Given the description of an element on the screen output the (x, y) to click on. 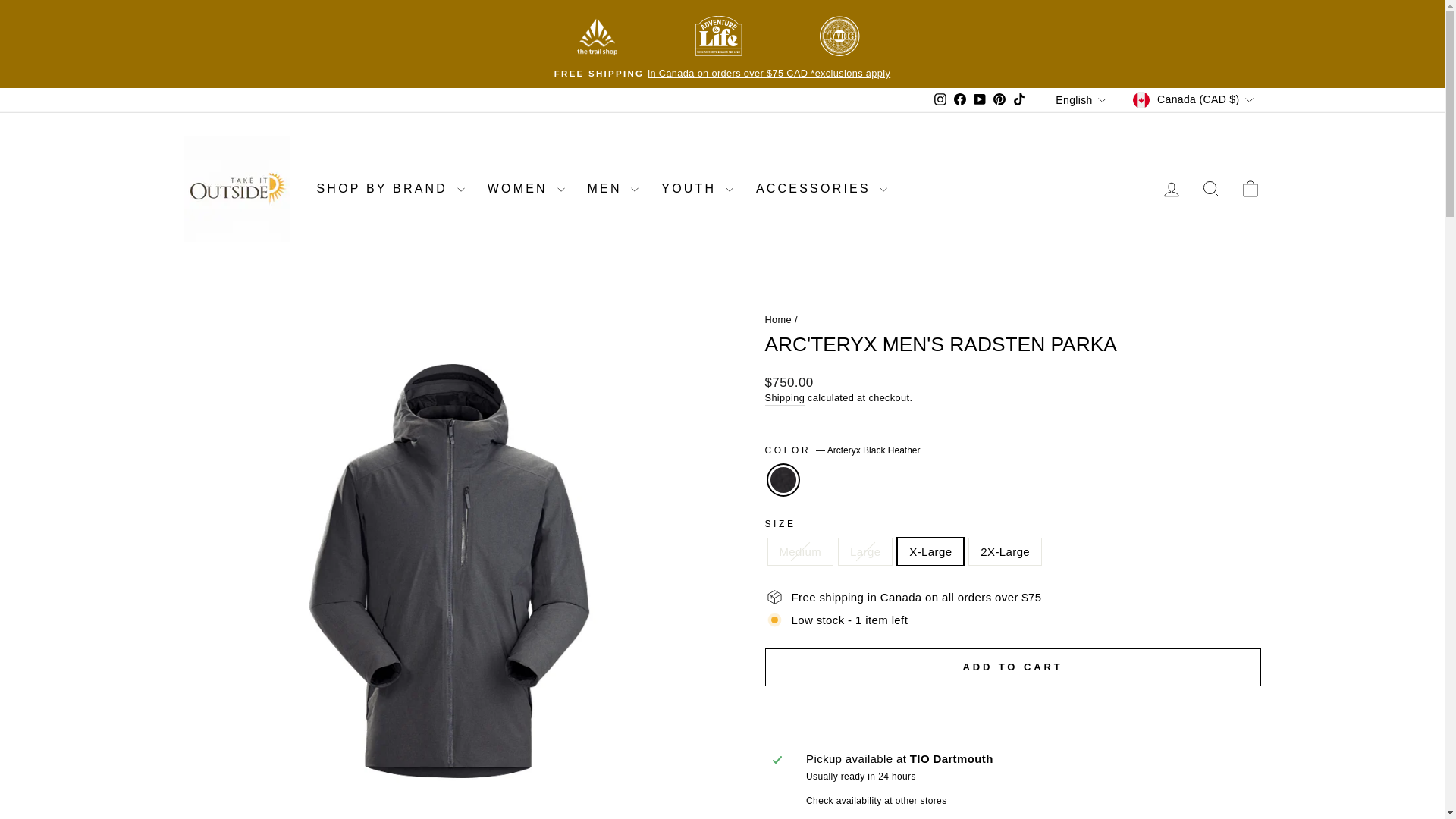
ICON-BAG-MINIMAL (1249, 188)
Take It Outside on Instagram (940, 99)
instagram (940, 99)
ICON-SEARCH (1210, 188)
ACCOUNT (1170, 189)
Take It Outside on YouTube (979, 99)
